Given the description of an element on the screen output the (x, y) to click on. 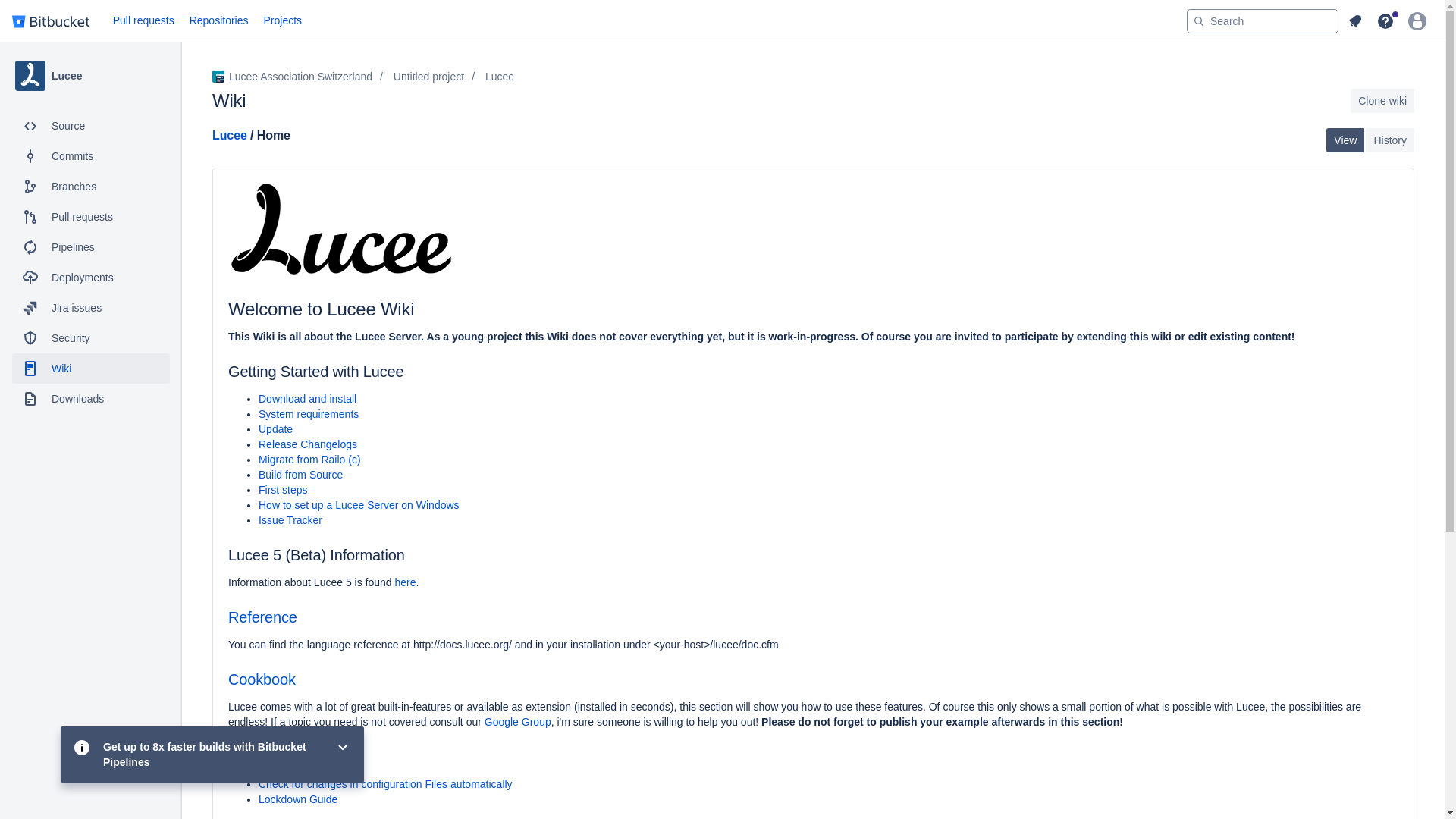
Pull requests (143, 21)
Download and install (307, 398)
Commits (90, 155)
Projects (283, 21)
First steps (283, 490)
Pipelines (90, 246)
Update (275, 428)
Release Changelogs (307, 444)
Lucee Association Switzerland (292, 76)
Repositories (218, 21)
Build from Source (300, 474)
Lucee (90, 75)
Deployments (90, 277)
How to set up a Lucee Server on Windows (359, 504)
Pull requests (90, 216)
